Given the description of an element on the screen output the (x, y) to click on. 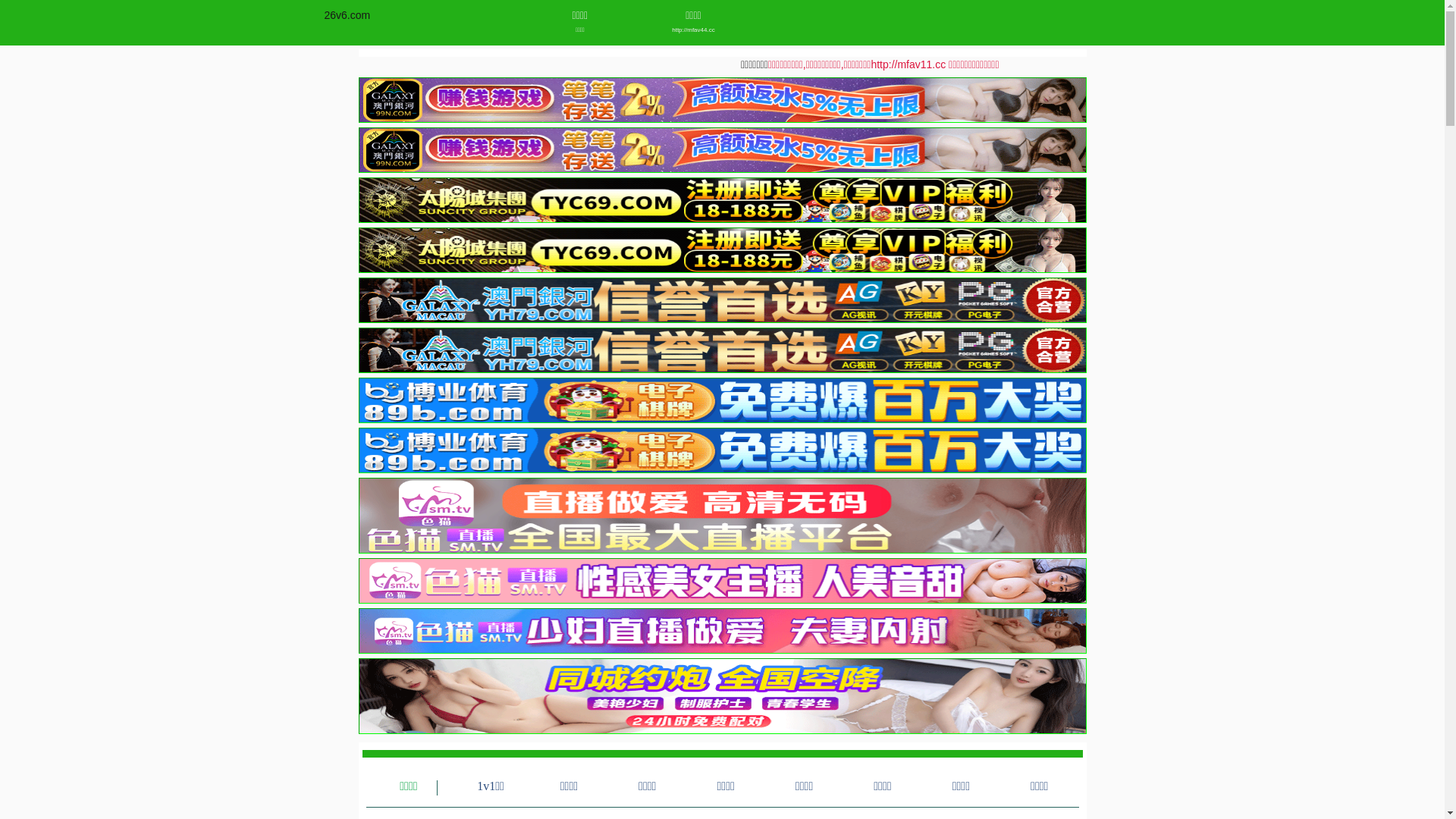
http://mfav44.cc Element type: text (693, 29)
26v6.com Element type: text (347, 15)
